Given the description of an element on the screen output the (x, y) to click on. 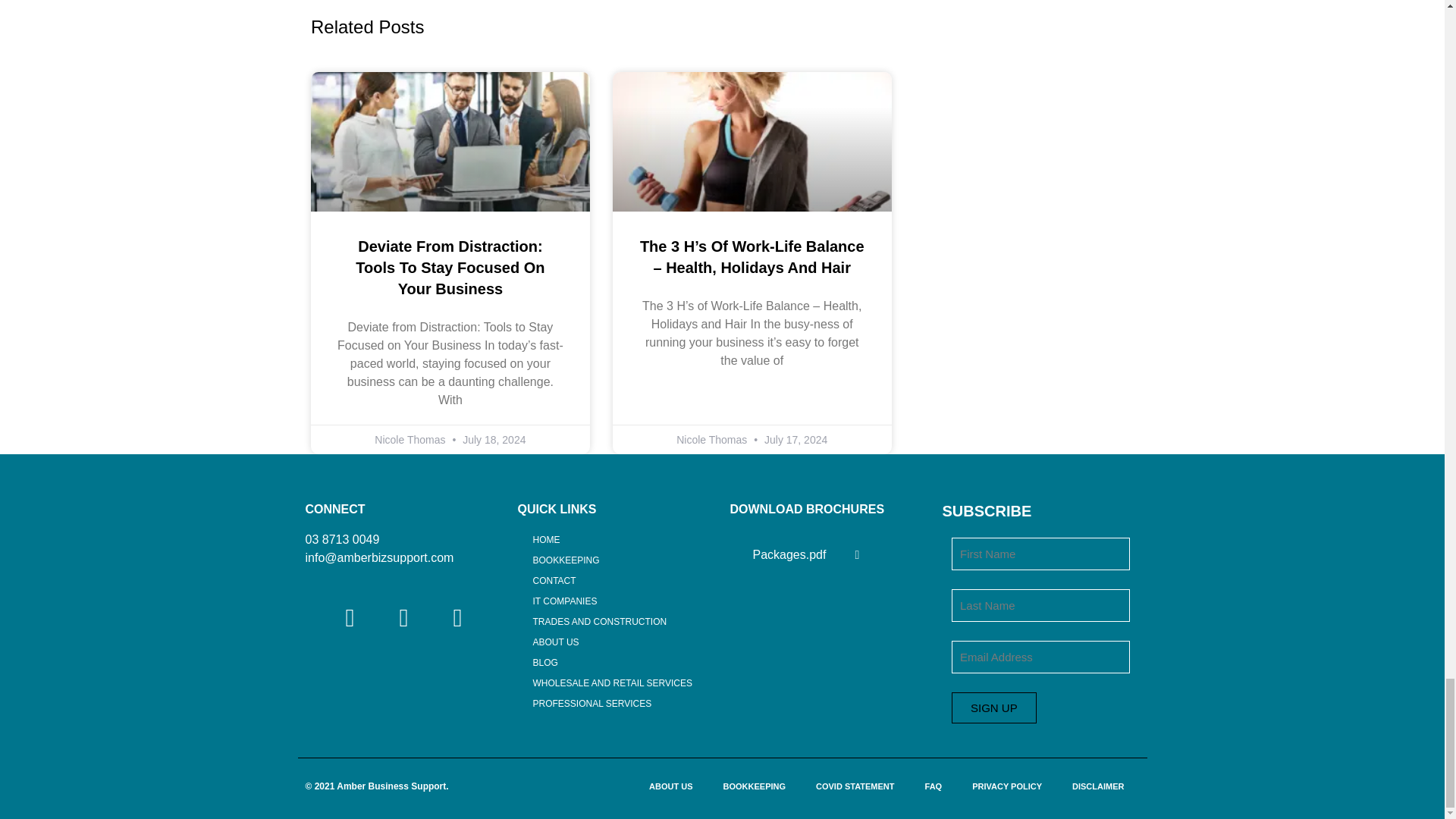
SIGN UP (994, 707)
